Given the description of an element on the screen output the (x, y) to click on. 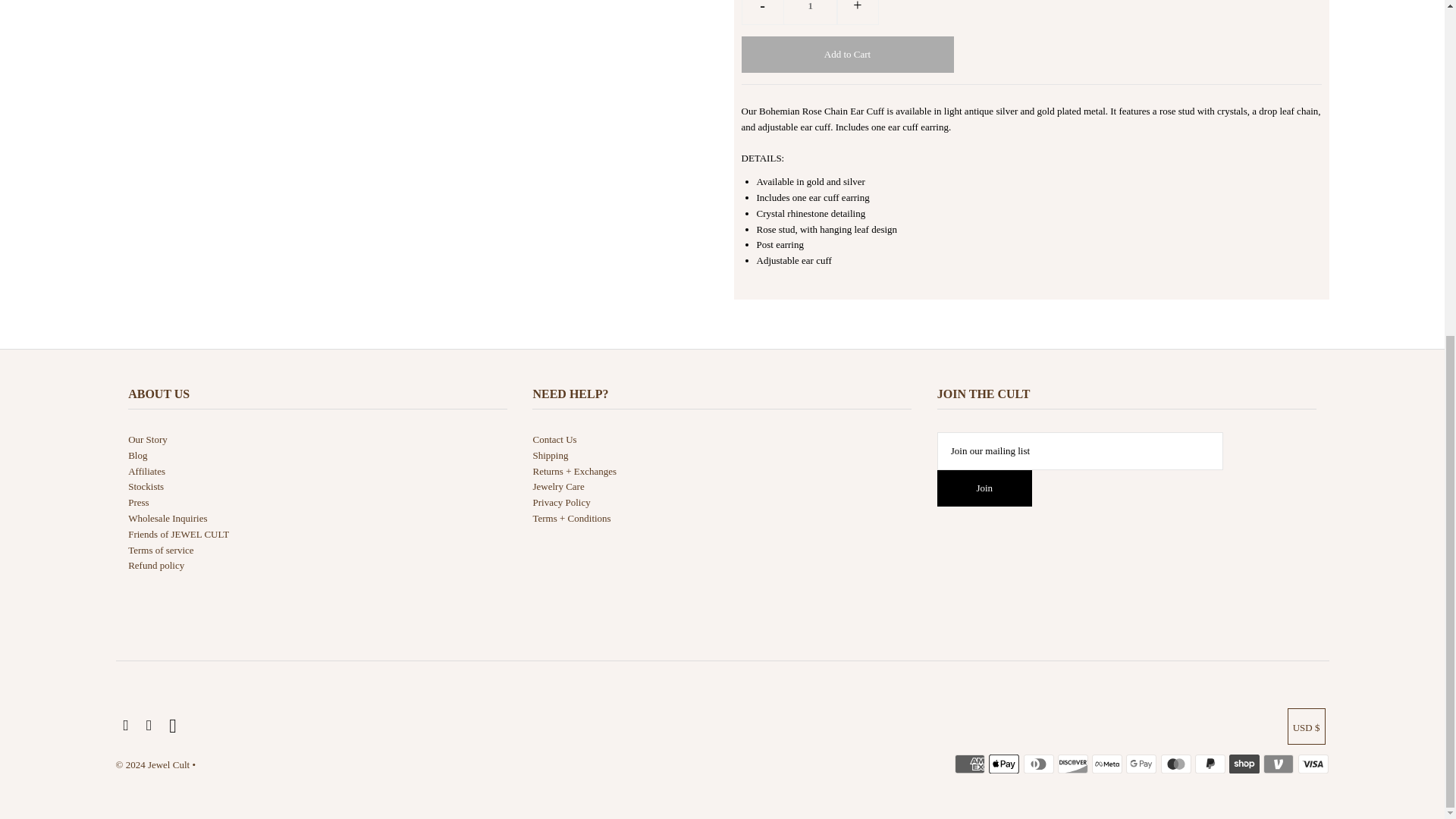
Meta Pay (1107, 763)
- (762, 12)
Visa (1312, 763)
Google Pay (1140, 763)
1 (810, 12)
Discover (1072, 763)
Add to Cart (847, 54)
PayPal (1210, 763)
American Express (970, 763)
Shop Pay (1243, 763)
